Given the description of an element on the screen output the (x, y) to click on. 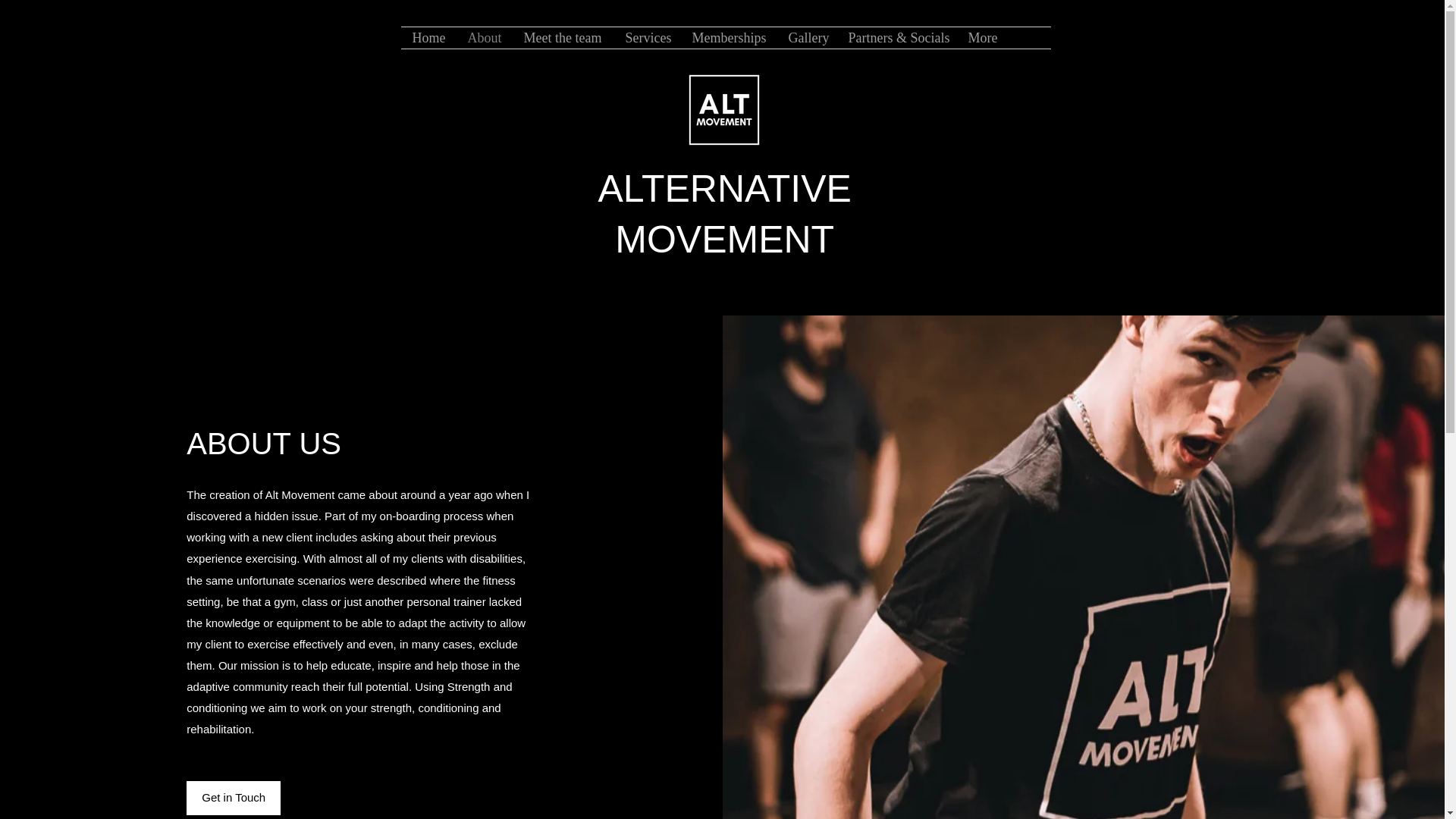
Gallery (805, 37)
About (484, 37)
Home (427, 37)
Meet the team (563, 37)
Get in Touch (233, 797)
Memberships (729, 37)
ALTERNATIVE MOVEMENT (724, 214)
Services (647, 37)
